Given the description of an element on the screen output the (x, y) to click on. 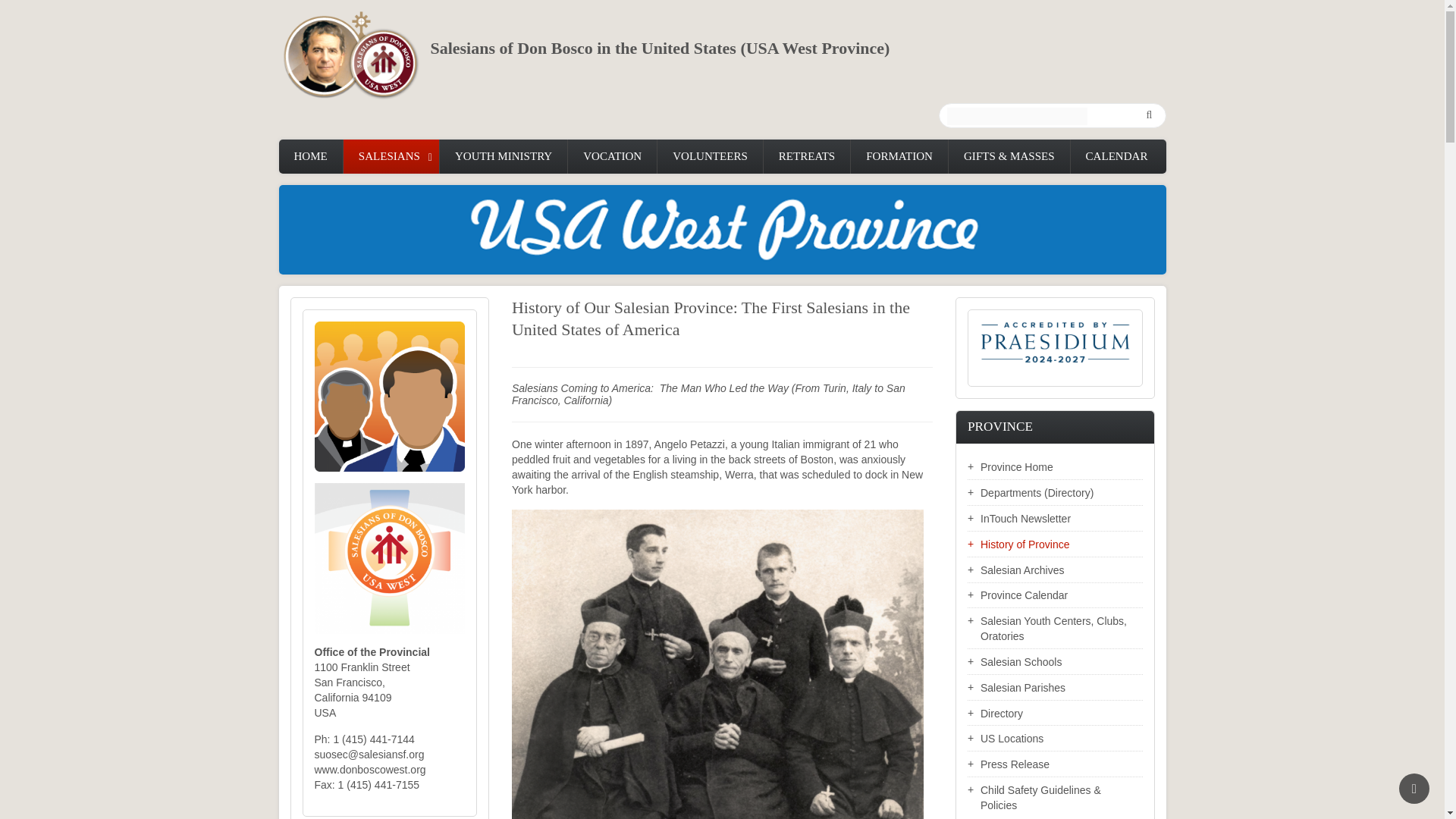
Search (1146, 116)
SALESIANS (391, 156)
FORMATION (898, 156)
HOME (310, 156)
RETREATS (806, 156)
Enter the terms you wish to search for. (1016, 116)
Home (354, 54)
VOLUNTEERS (710, 156)
VOCATION (611, 156)
